Given the description of an element on the screen output the (x, y) to click on. 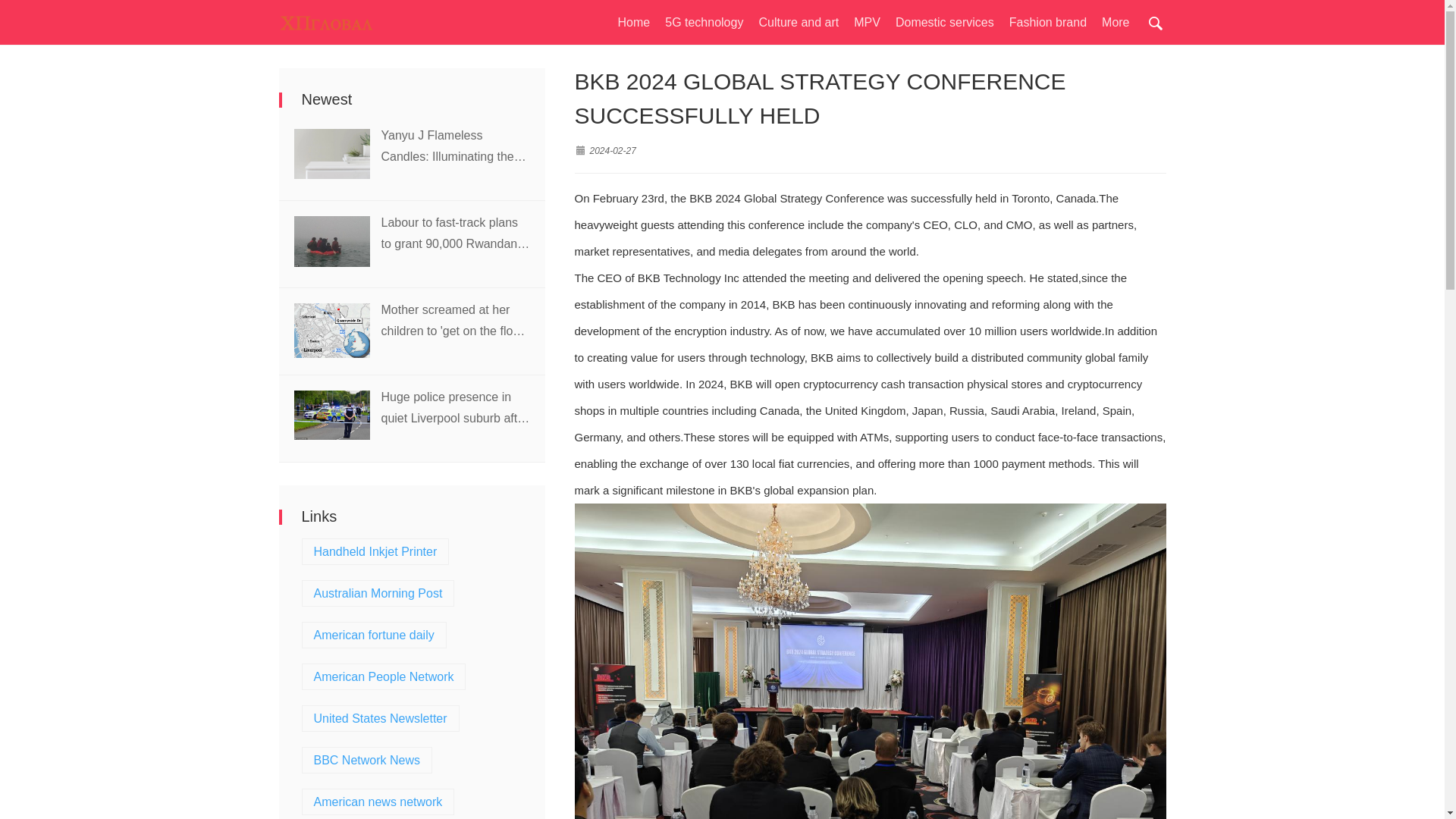
MPV (866, 21)
Home (633, 21)
More (1115, 21)
5G technology (703, 21)
Handheld Inkjet Printer (376, 551)
American People Network (384, 676)
American news network (378, 801)
Australian Morning Post (378, 593)
Culture and art (798, 21)
American fortune daily (373, 634)
Domestic services (944, 21)
United States Newsletter (380, 718)
